Given the description of an element on the screen output the (x, y) to click on. 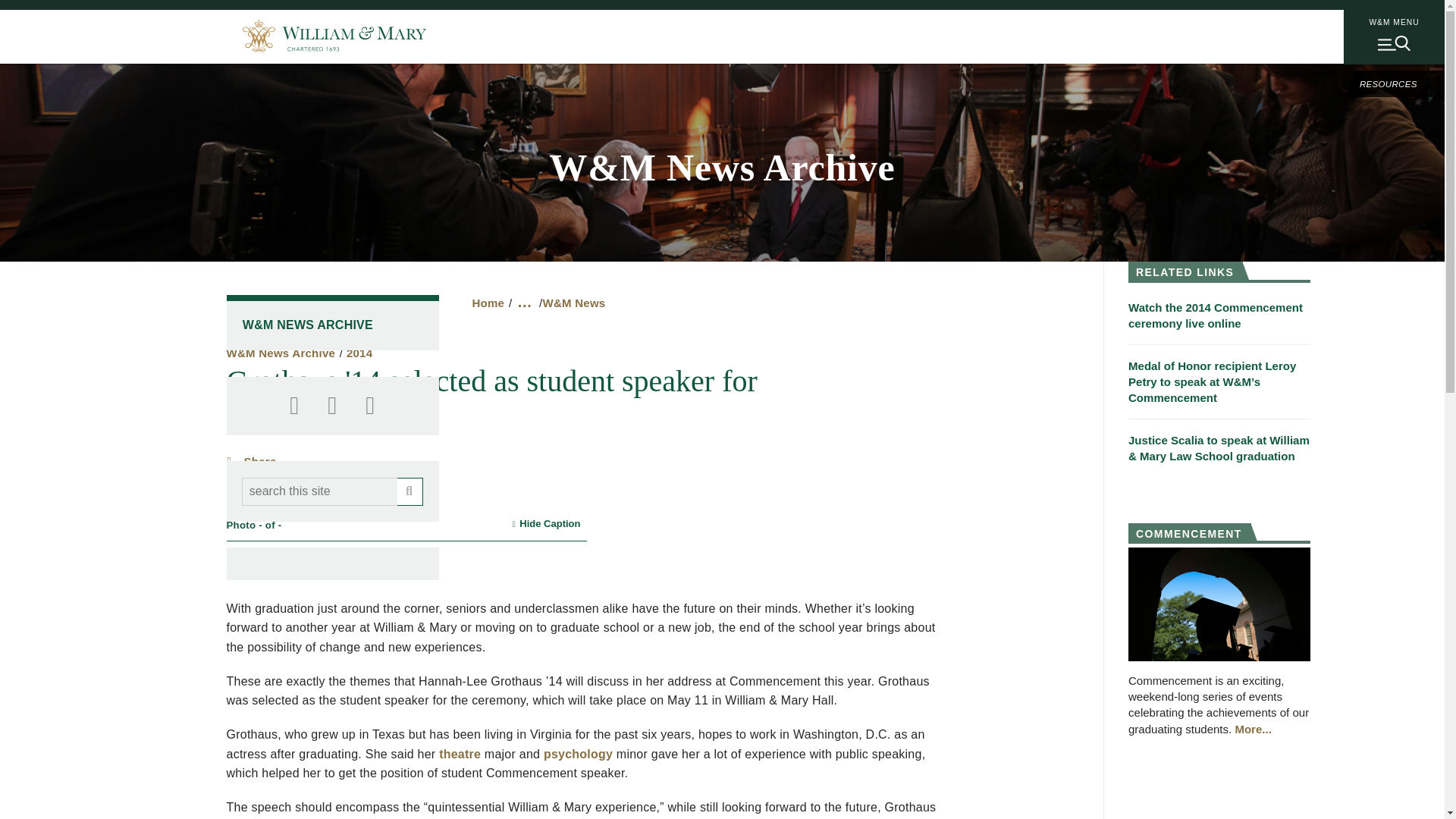
Facebook (294, 405)
X (332, 405)
Submit (410, 491)
Watch the 2014 Commencement ceremony live online (1219, 308)
YouTube (370, 405)
